Given the description of an element on the screen output the (x, y) to click on. 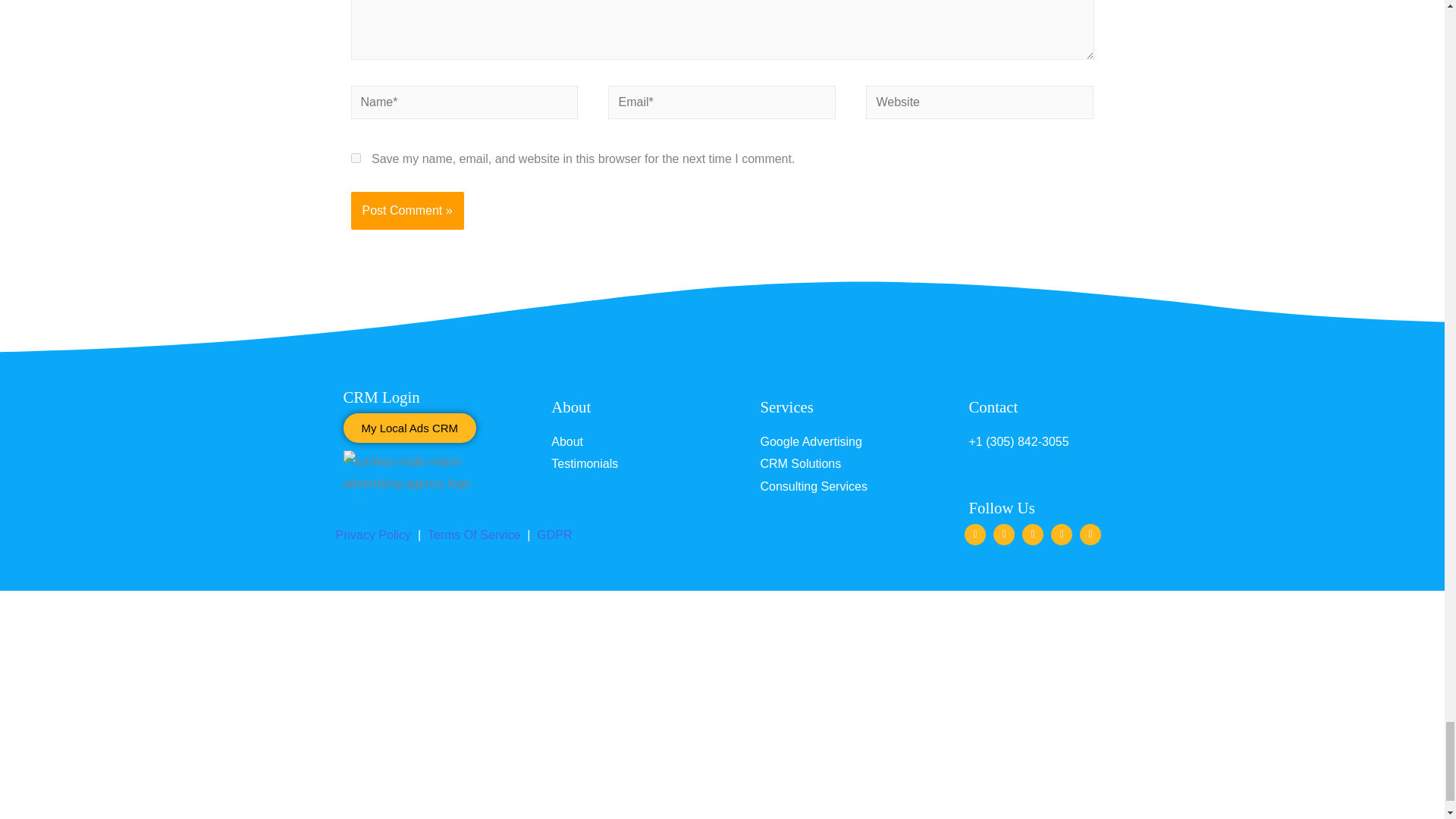
My Local Ads CRM (409, 428)
About (571, 406)
yes (354, 157)
